Given the description of an element on the screen output the (x, y) to click on. 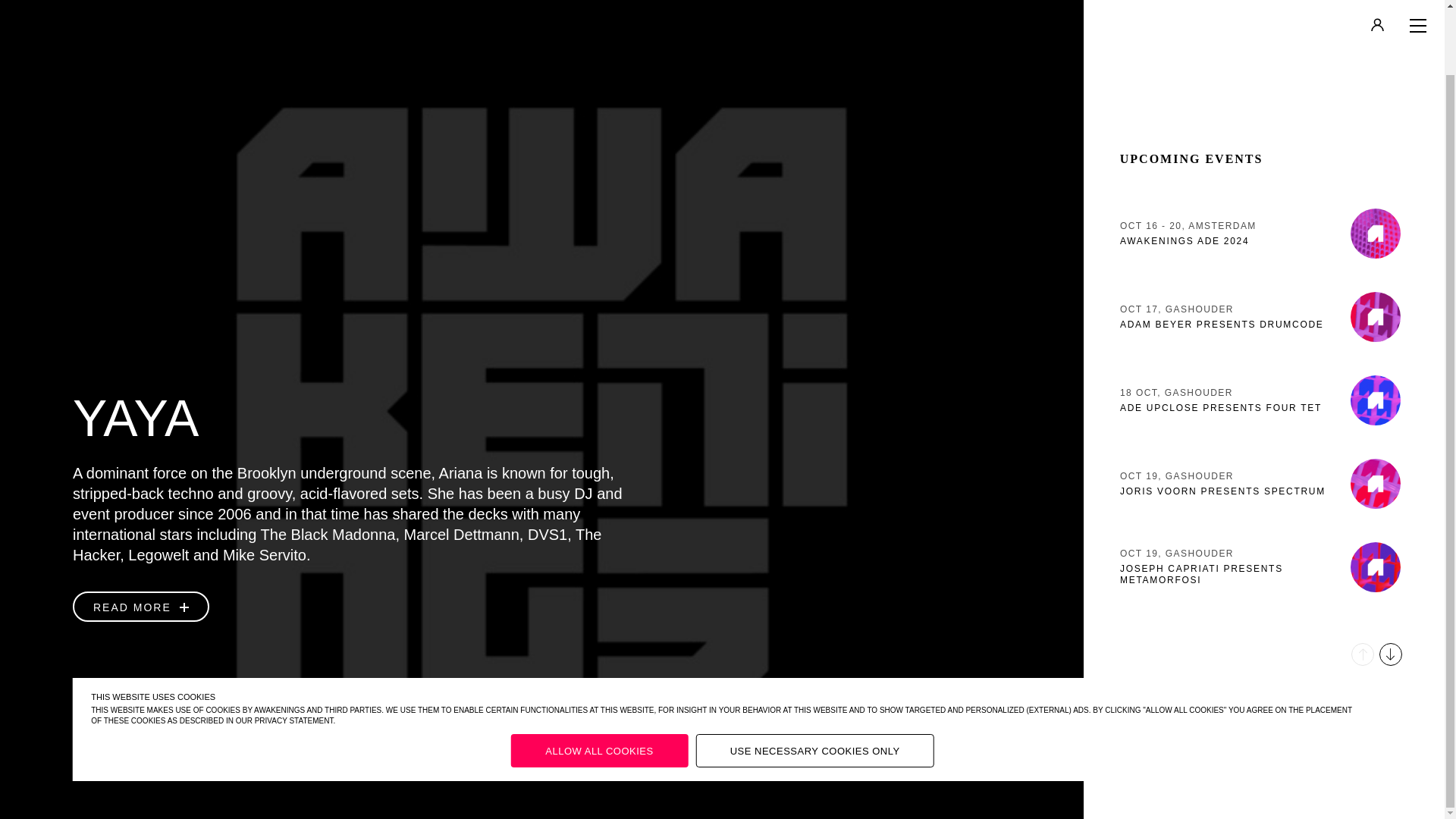
ALLOW ALL COOKIES (1263, 329)
USE NECESSARY COOKIES ONLY (1263, 245)
READ MORE (599, 679)
